Given the description of an element on the screen output the (x, y) to click on. 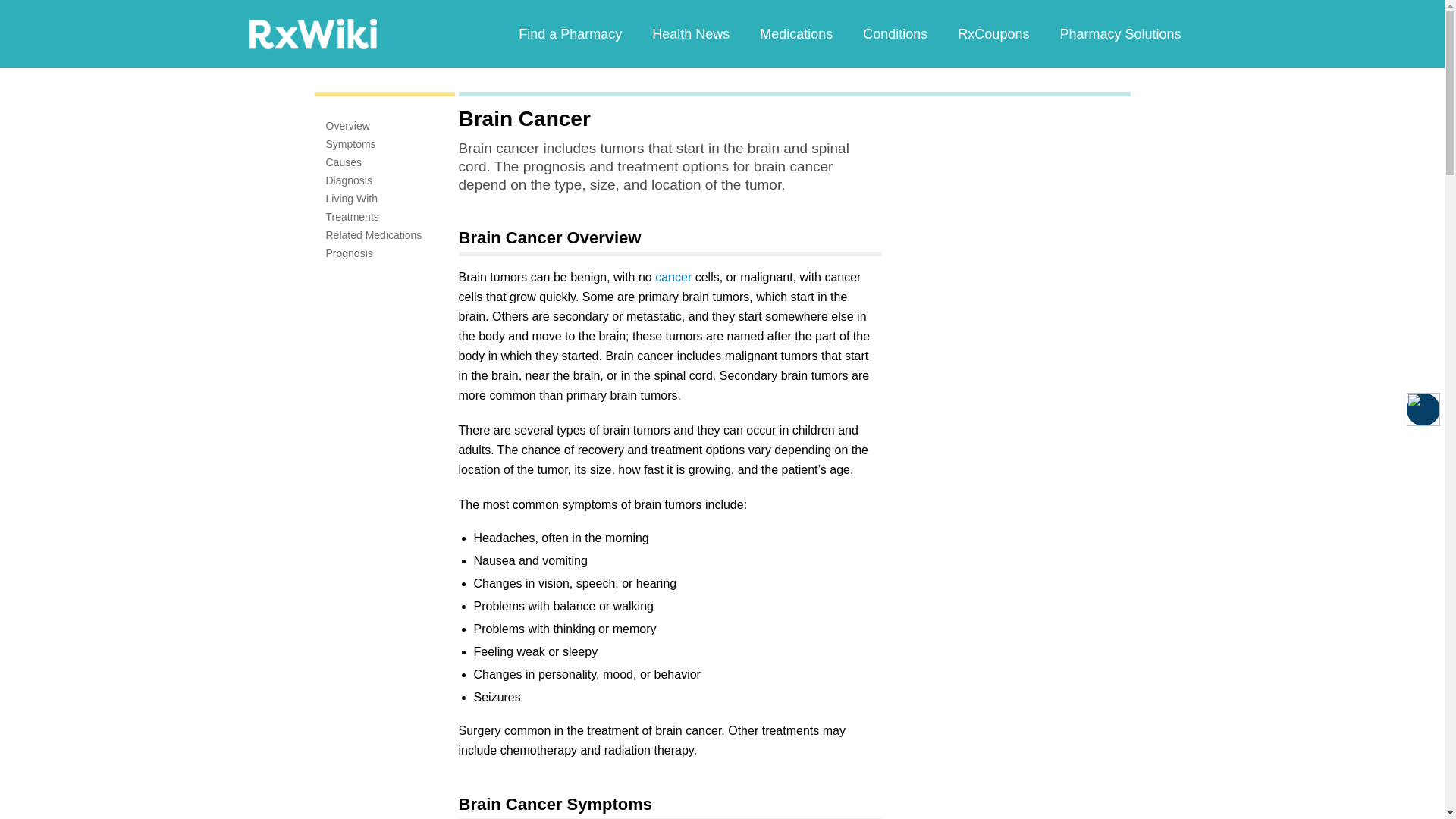
cancer (673, 277)
Medications (795, 33)
Treatments (352, 216)
Living With (351, 198)
Conditions (894, 33)
Pharmacy Solutions (1119, 33)
Find a Pharmacy (570, 33)
Diagnosis (349, 180)
Symptoms (350, 143)
Health News (690, 33)
Overview (347, 125)
Prognosis (349, 253)
Related Medications (374, 234)
RxCoupons (992, 33)
Accessibility Menu (1422, 409)
